Given the description of an element on the screen output the (x, y) to click on. 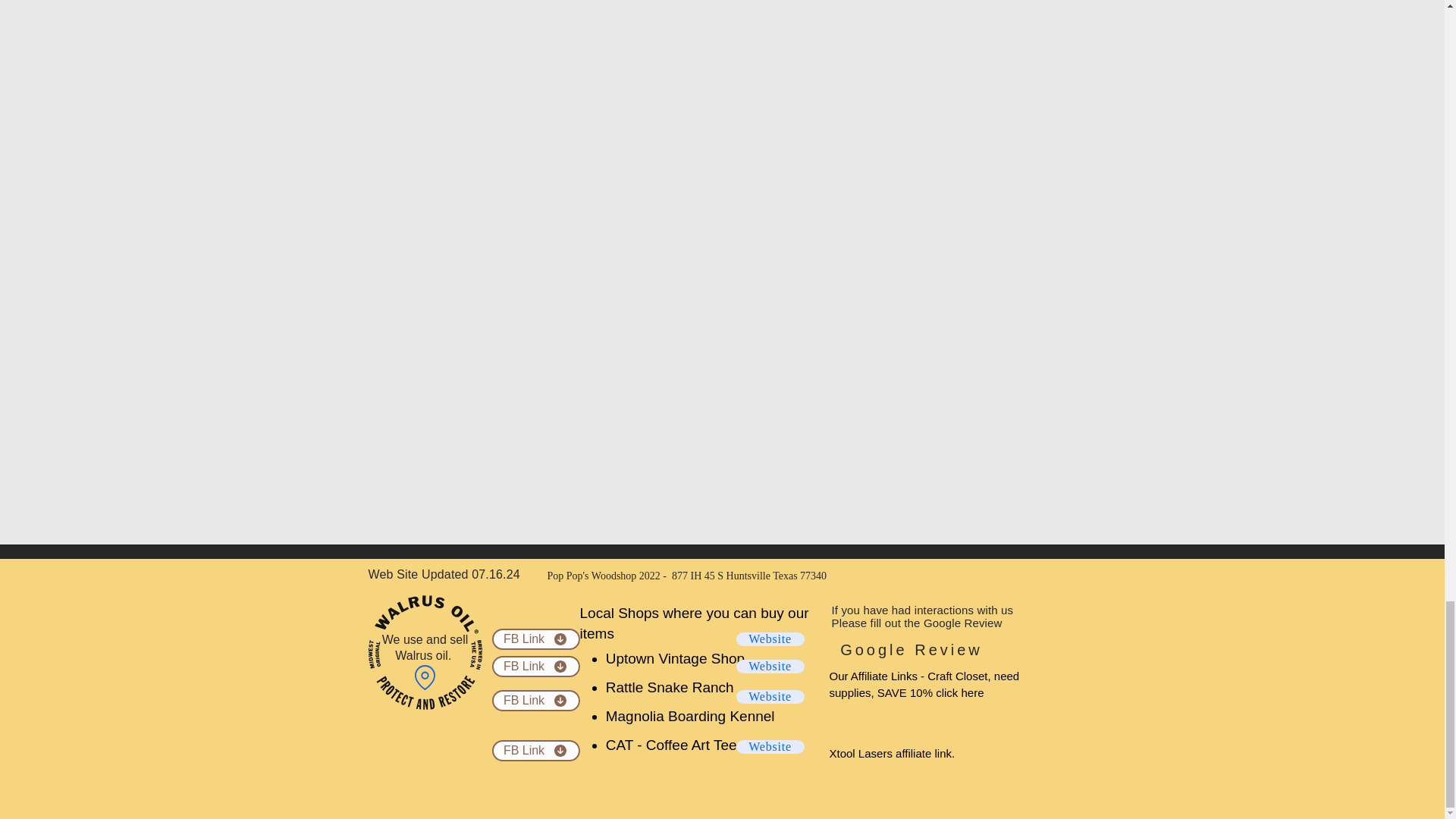
Website (769, 639)
Website (769, 666)
Website (769, 696)
FB Link (535, 666)
Google Review (911, 649)
FB Link (535, 750)
FB Link (535, 700)
FB Link (535, 639)
Website (769, 746)
